Given the description of an element on the screen output the (x, y) to click on. 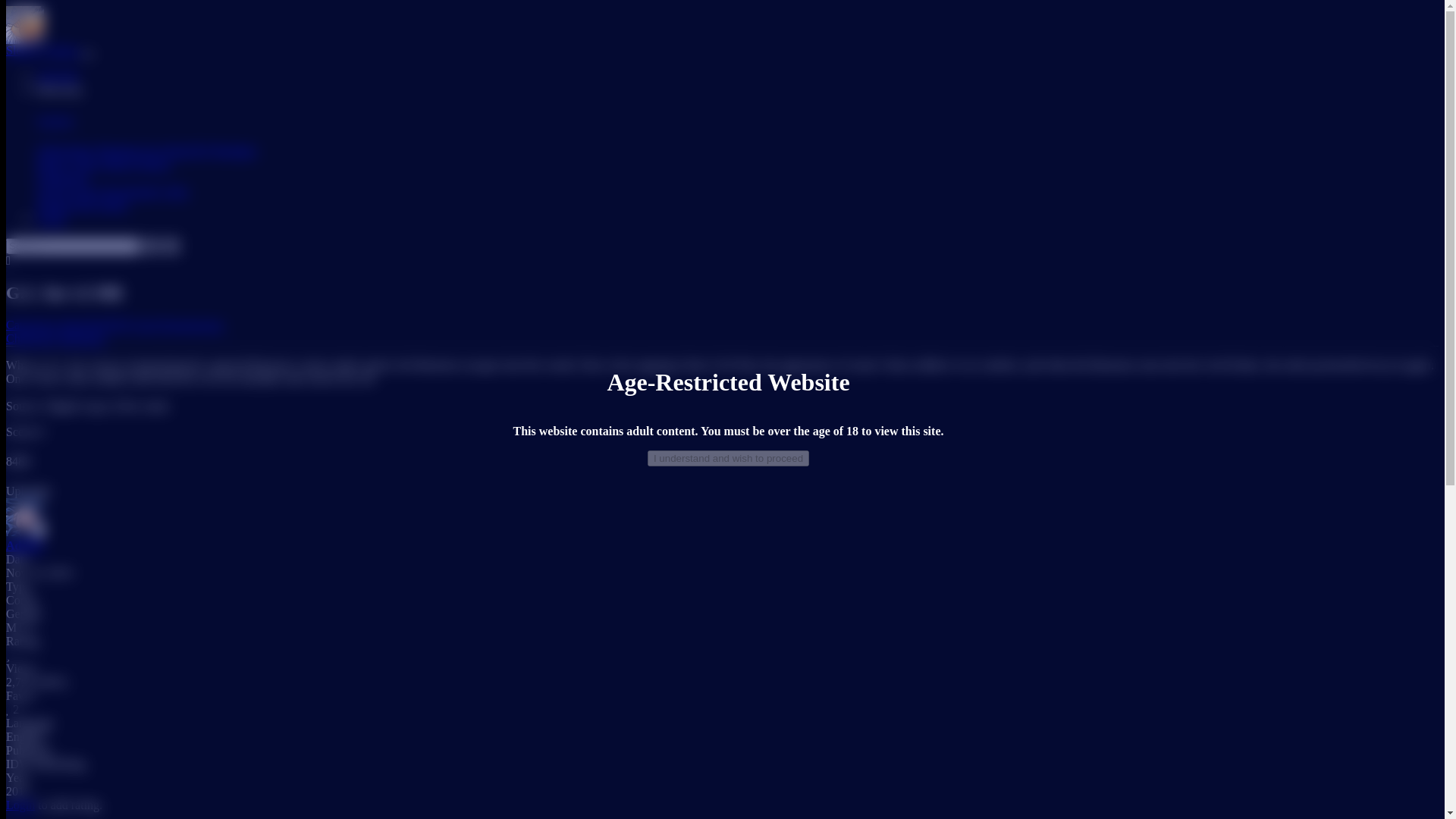
Baroness (82, 338)
Sleepy Clips (66, 164)
Search (151, 245)
Head KO (83, 324)
Artwork (56, 75)
Support My Work! (82, 205)
Advanced search settings (7, 260)
Links (173, 191)
Login (50, 218)
Sleepy Comics (43, 50)
Unconscious (192, 324)
OTS Carry (133, 324)
Directory (59, 89)
Login (19, 804)
Sleepy Stories (135, 164)
